Given the description of an element on the screen output the (x, y) to click on. 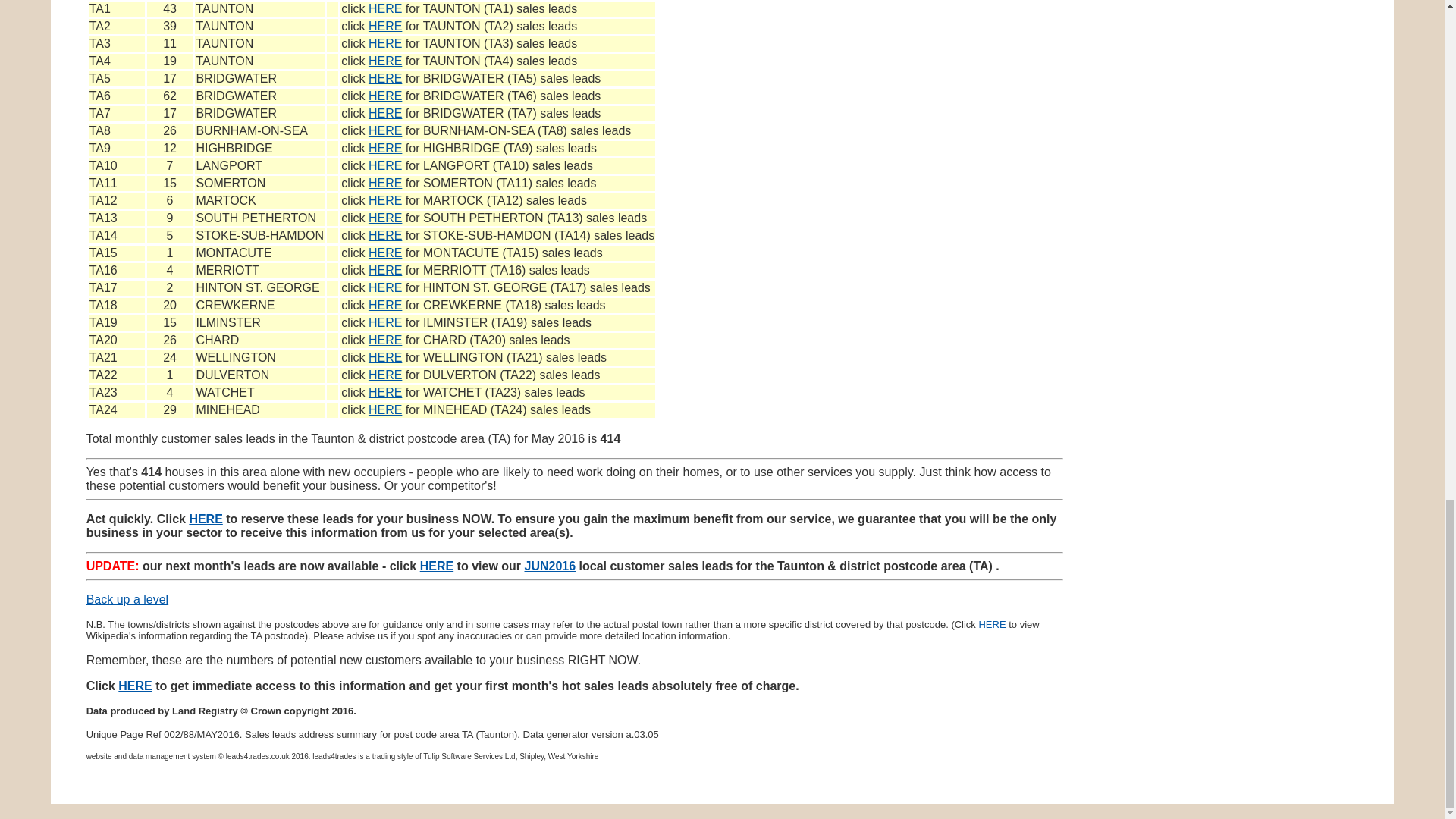
customer sales leads in LANGPORT - TA10 (384, 164)
HERE (384, 374)
HERE (384, 78)
HERE (384, 235)
HERE (384, 182)
customer sales leads in HIGHBRIDGE - TA9 (384, 147)
HERE (384, 8)
customer sales leads in SOMERTON - TA11 (384, 182)
HERE (384, 130)
JUN2016 (550, 565)
HERE (384, 60)
HERE (384, 409)
customer sales leads in TAUNTON - TA1 (384, 8)
HERE (436, 565)
HERE (384, 339)
